Given the description of an element on the screen output the (x, y) to click on. 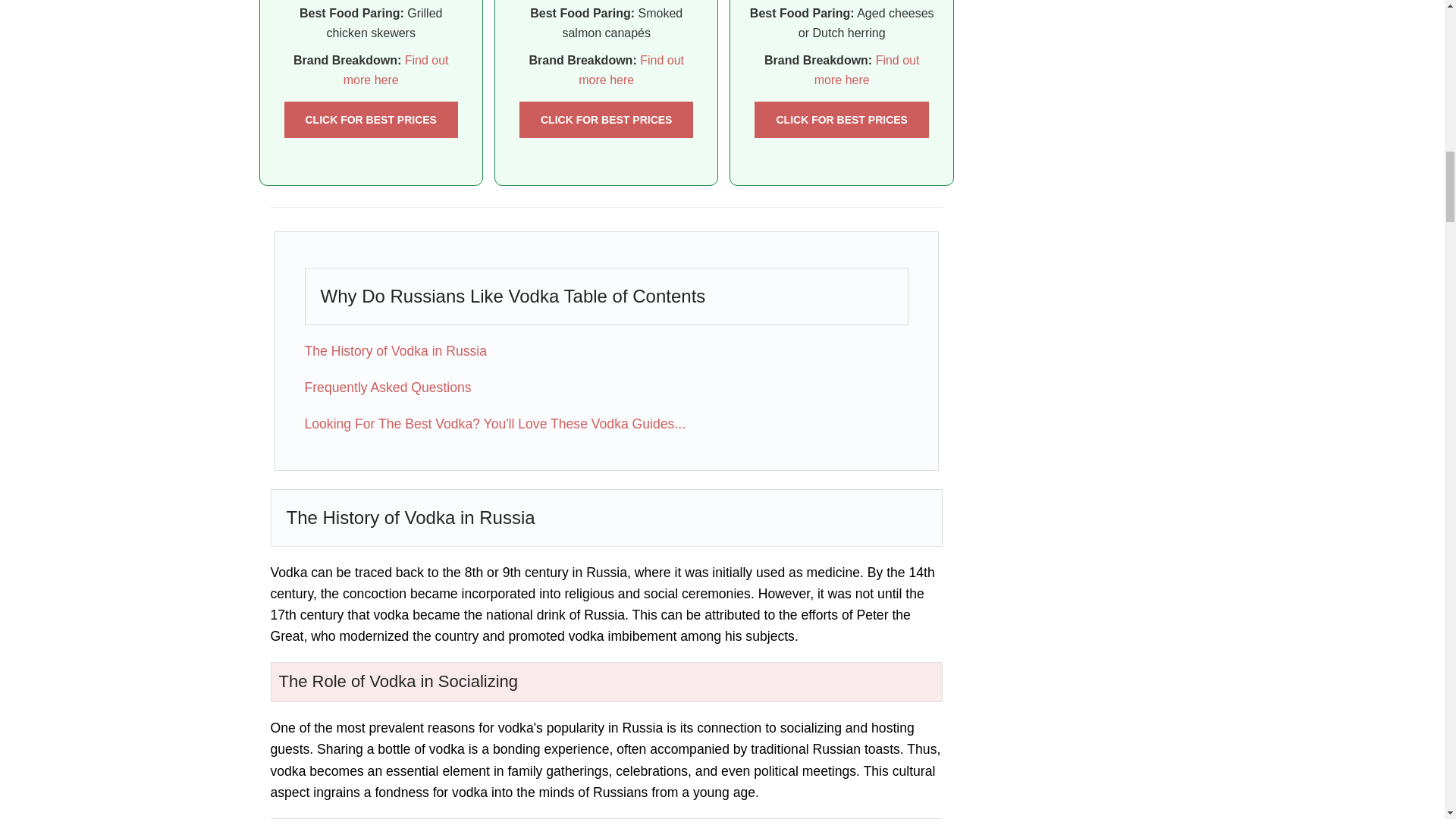
vd-recommends-this (370, 119)
CLICK FOR BEST PRICES (370, 119)
vd-recommends-this (606, 119)
Find out more here (395, 70)
vd-recommends-this (841, 119)
